Given the description of an element on the screen output the (x, y) to click on. 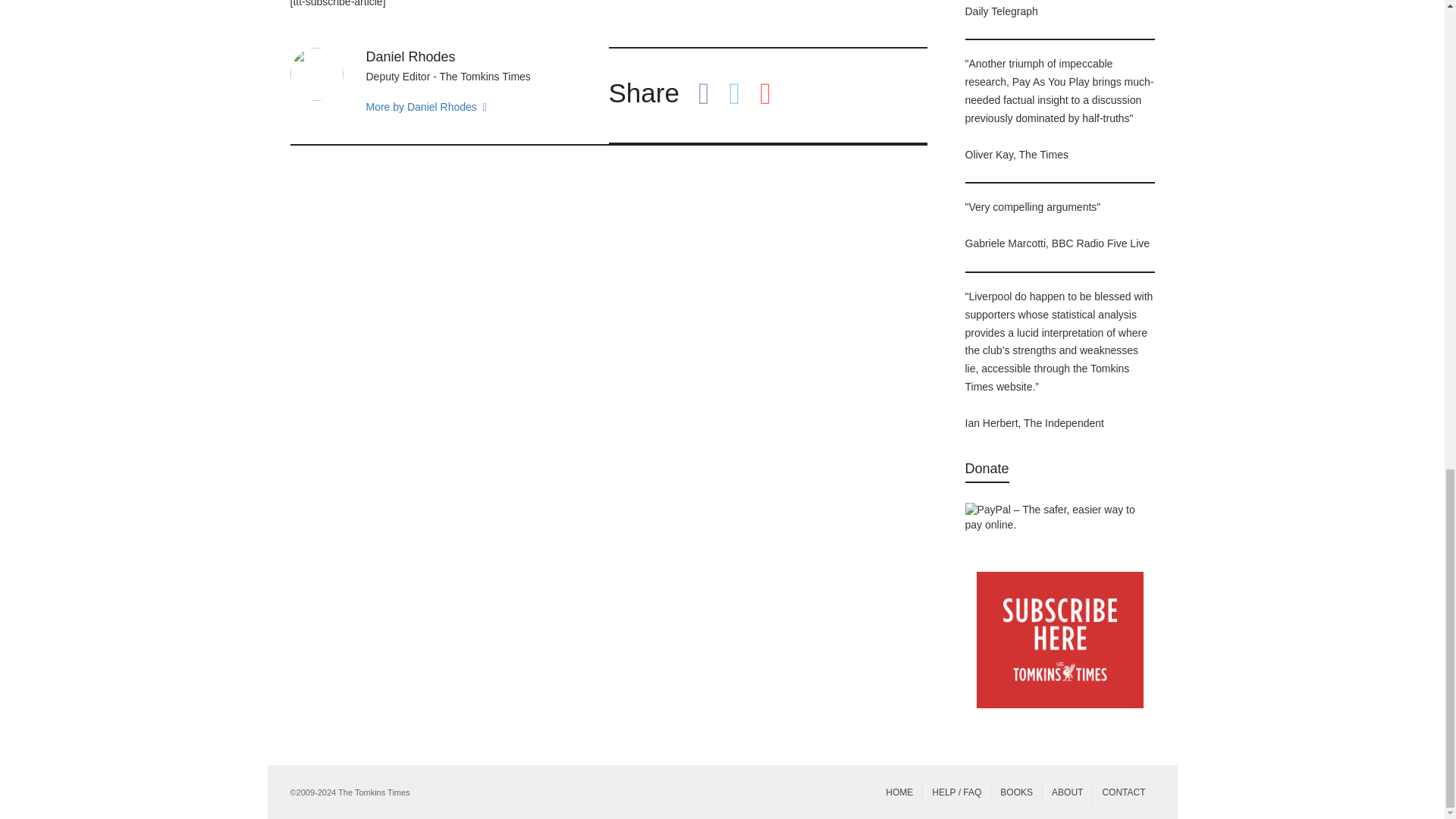
BOOKS (1016, 792)
ABOUT (1067, 792)
HOME (898, 792)
CONTACT (1123, 792)
More by Daniel Rhodes (454, 107)
